Given the description of an element on the screen output the (x, y) to click on. 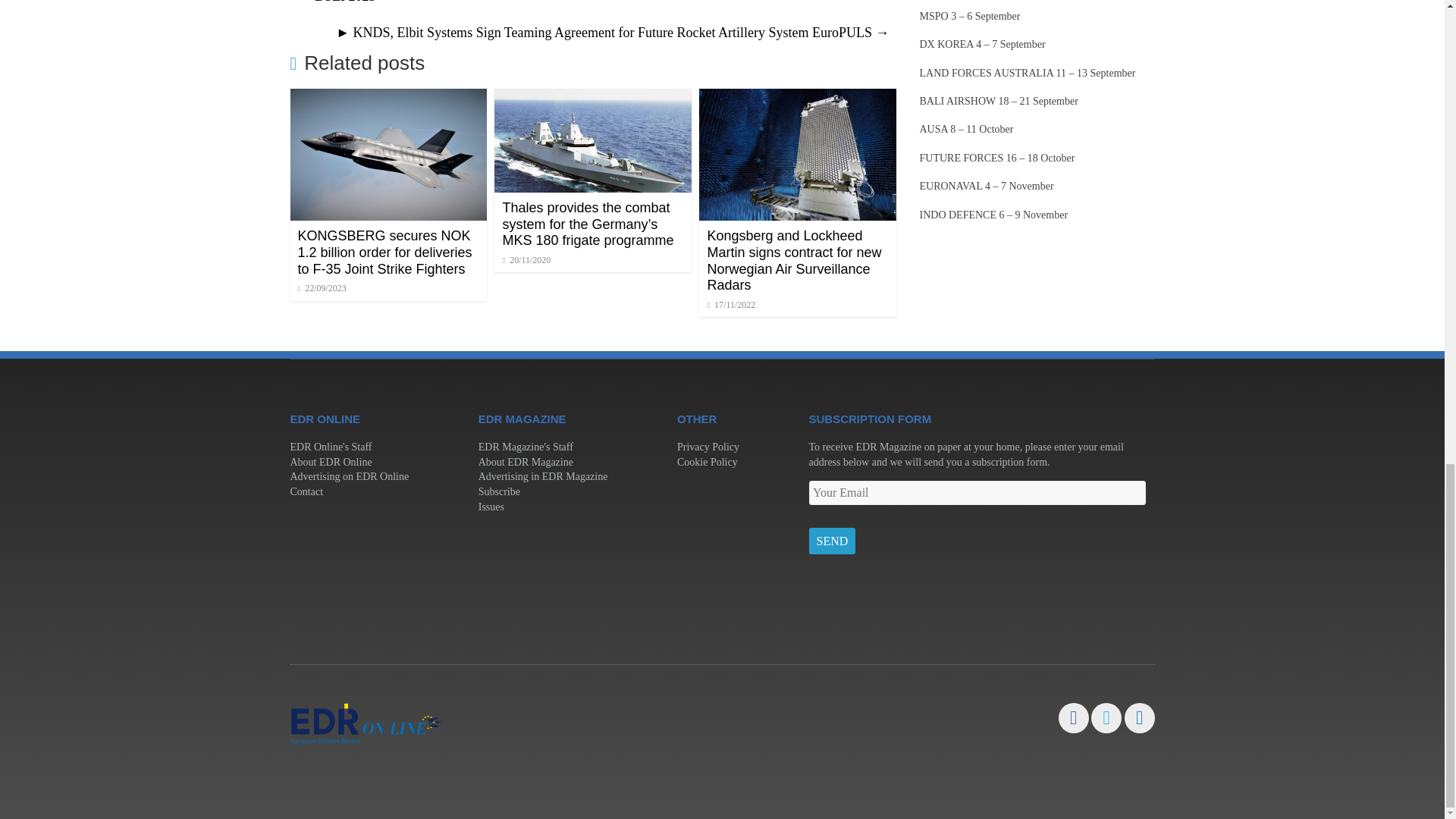
19:45 (321, 287)
SEND (832, 541)
